Given the description of an element on the screen output the (x, y) to click on. 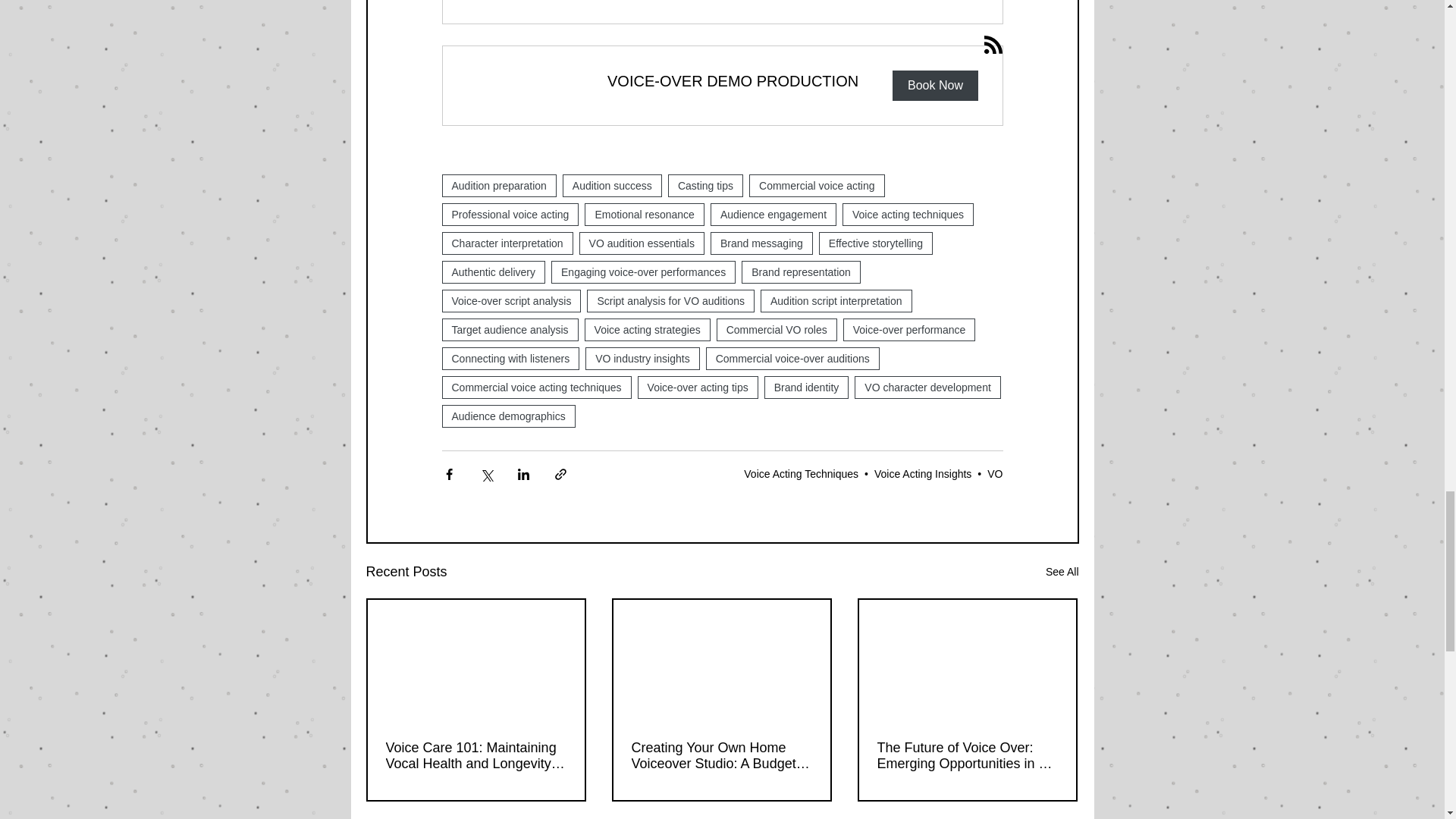
Authentic delivery (492, 272)
VO audition essentials (641, 242)
Effective storytelling (875, 242)
Audition preparation (498, 185)
Connecting with listeners (510, 358)
Casting tips (705, 185)
Commercial VO roles (776, 329)
Audition success (612, 185)
Brand messaging (761, 242)
VO industry insights (642, 358)
Voice-over script analysis (510, 300)
Voice acting techniques (908, 214)
Voice acting strategies (647, 329)
Voice-over performance (909, 329)
Commercial voice acting (817, 185)
